Given the description of an element on the screen output the (x, y) to click on. 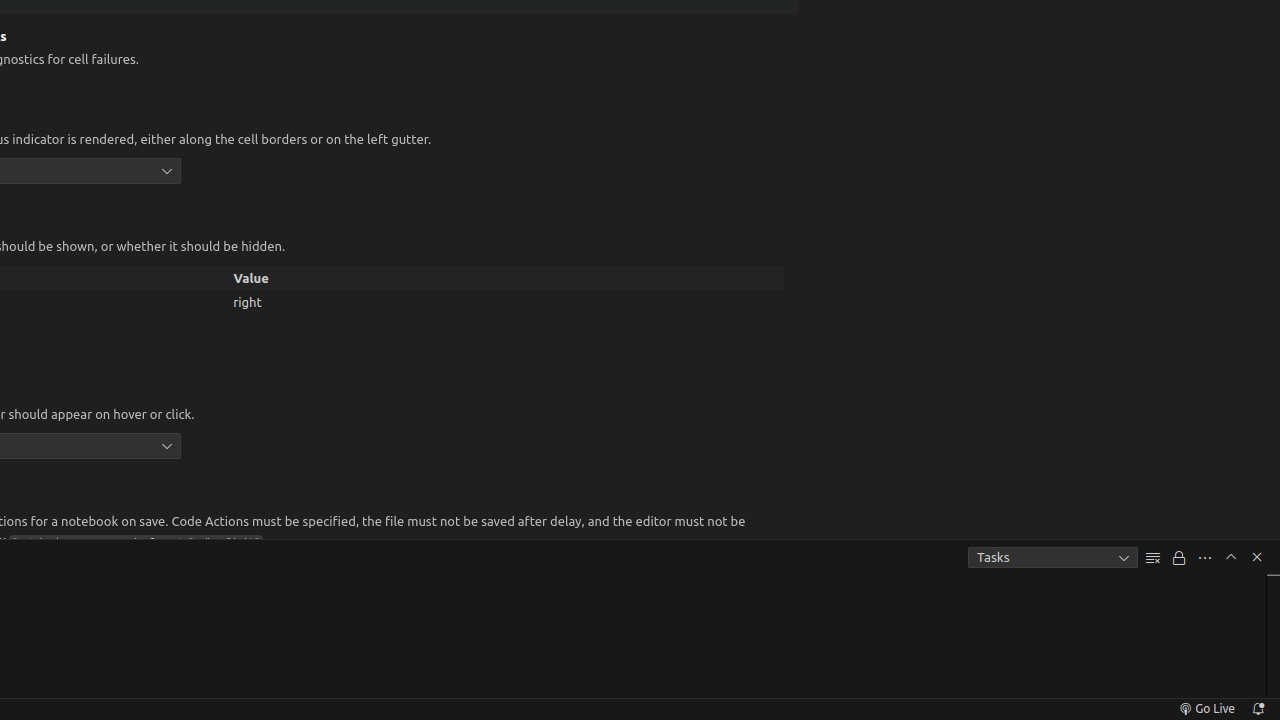
Views and More Actions... Element type: push-button (1205, 557)
Notifications Element type: push-button (1258, 709)
Clear Output Element type: push-button (1153, 557)
Tasks Element type: menu-item (1053, 557)
Turn Auto Scrolling Off Element type: check-box (1179, 557)
